Given the description of an element on the screen output the (x, y) to click on. 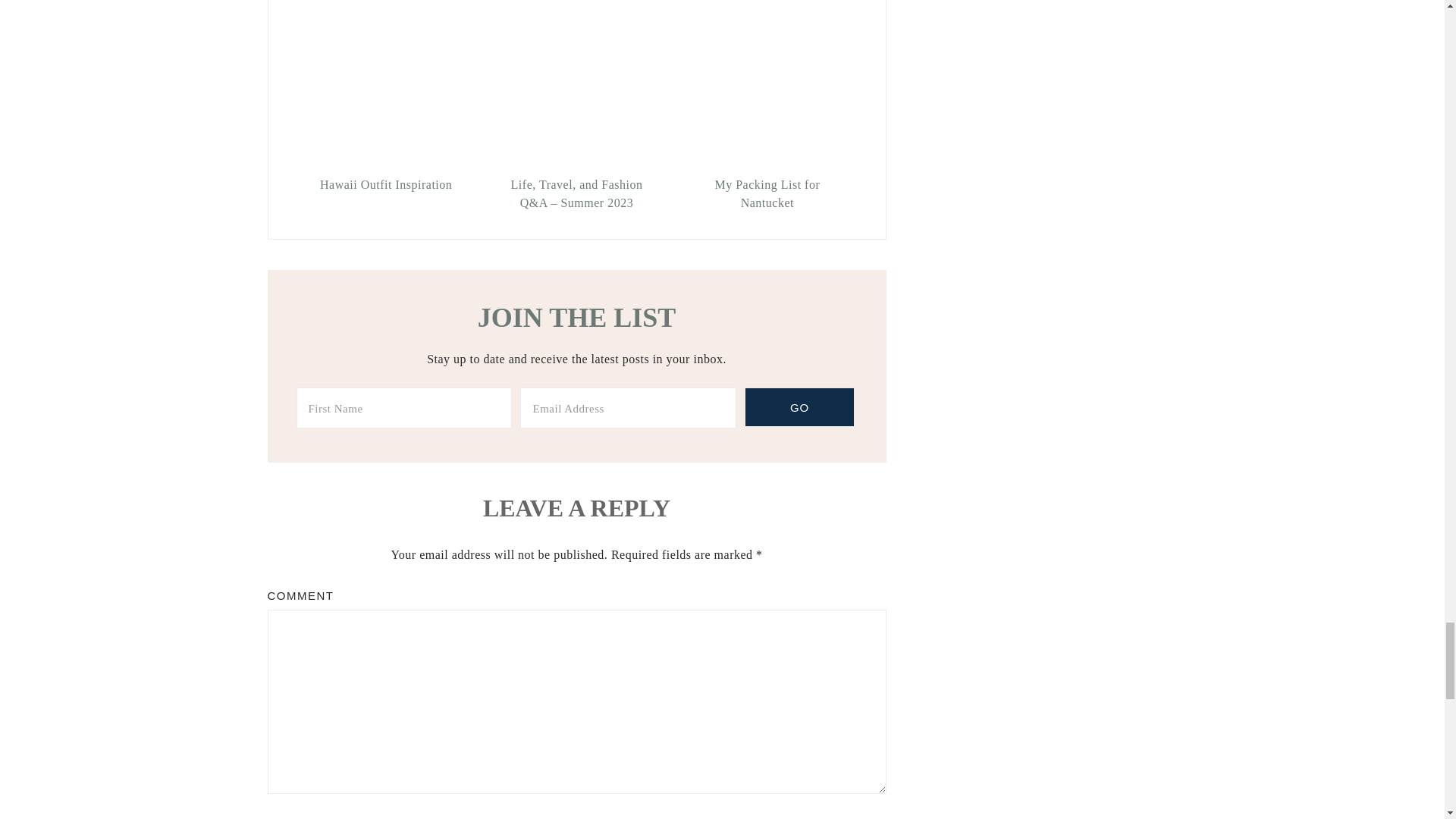
Permanent Link to Hawaii Outfit Inspiration (386, 184)
Permanent Link to My Packing List for Nantucket (767, 193)
Go (798, 406)
